Given the description of an element on the screen output the (x, y) to click on. 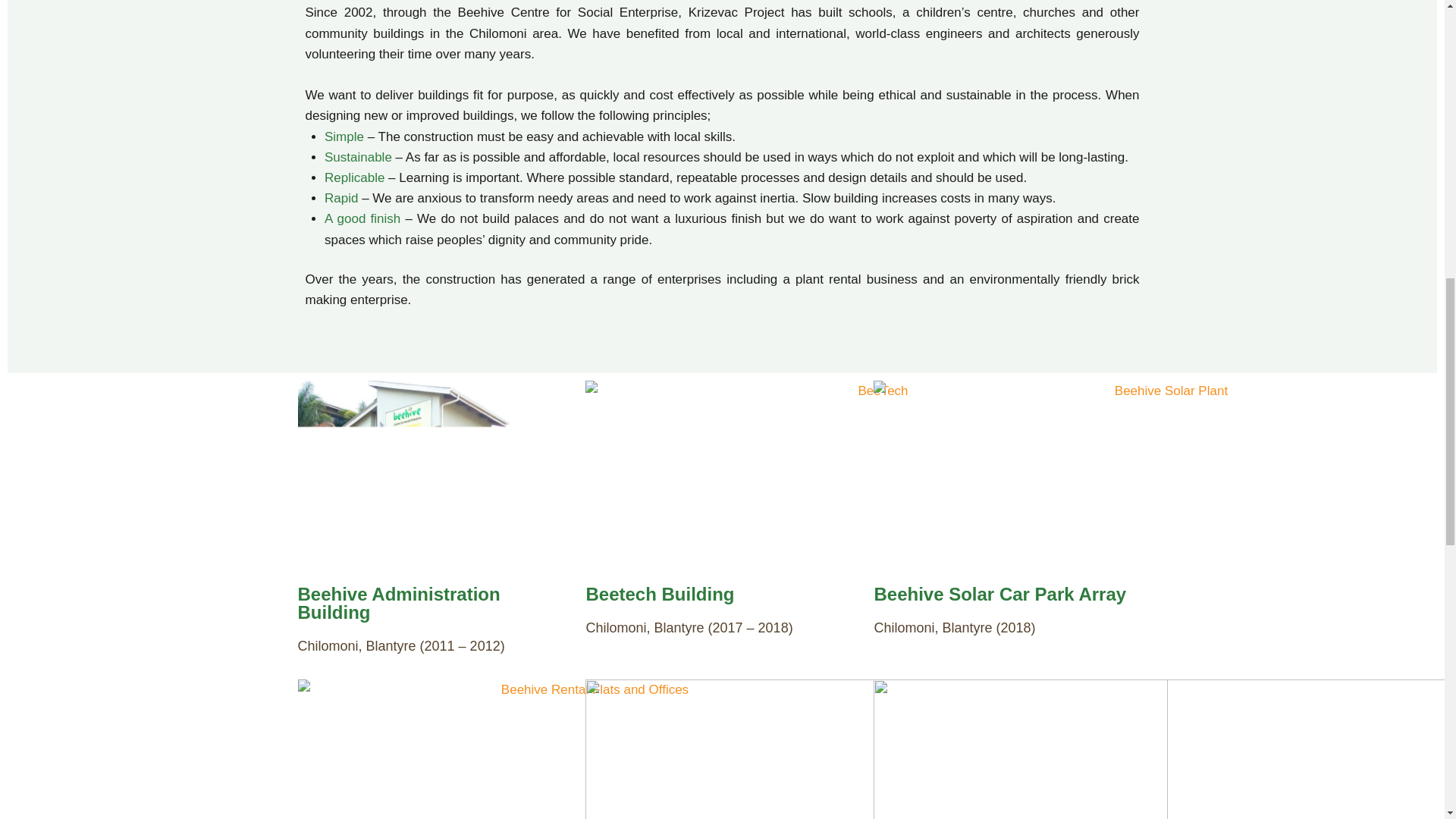
Beehive Solar Car Park Array (999, 593)
Beehive Administration Building (398, 602)
Beetech Building (659, 593)
